Given the description of an element on the screen output the (x, y) to click on. 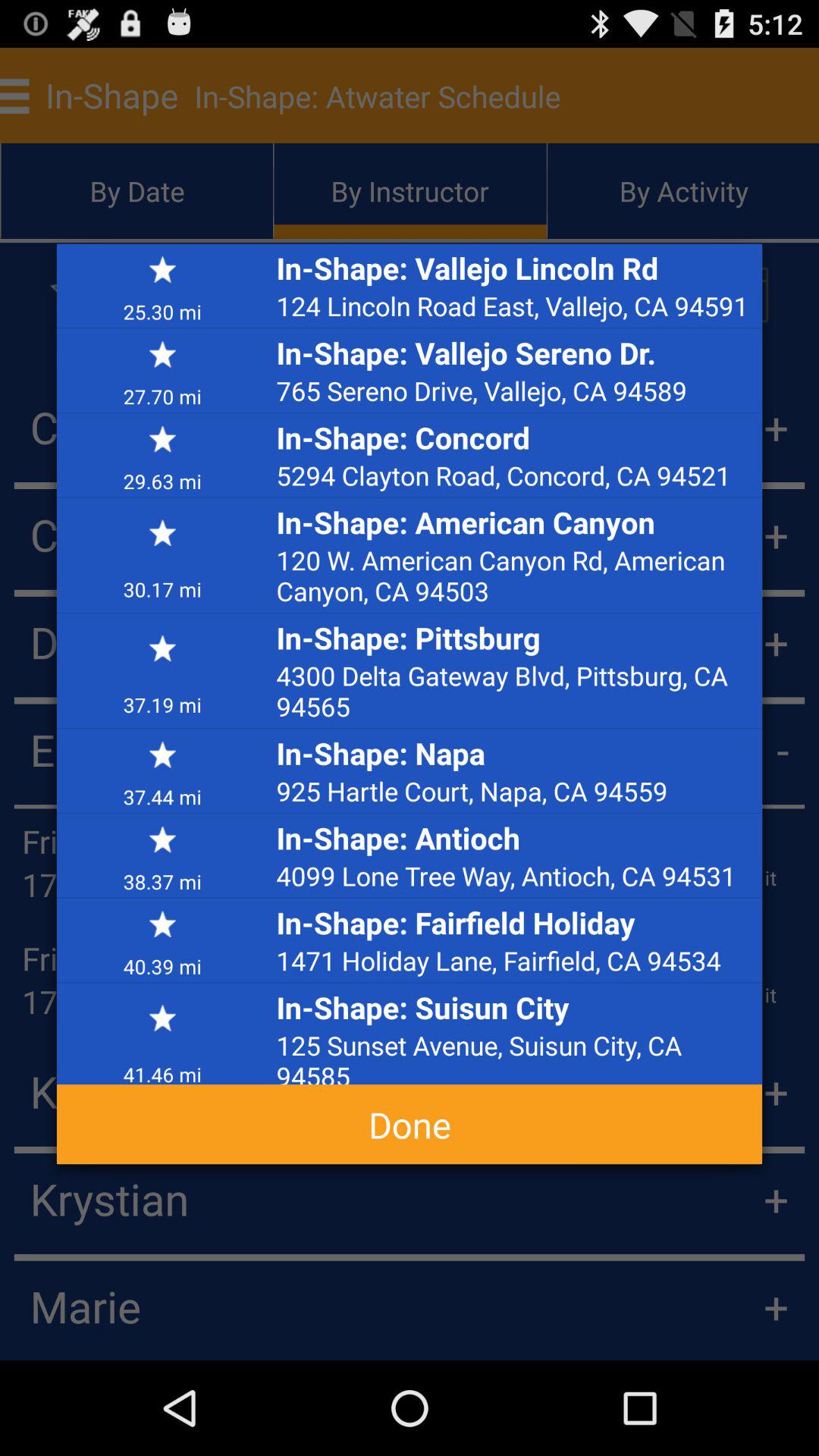
click app next to the in shape fairfield icon (162, 965)
